Given the description of an element on the screen output the (x, y) to click on. 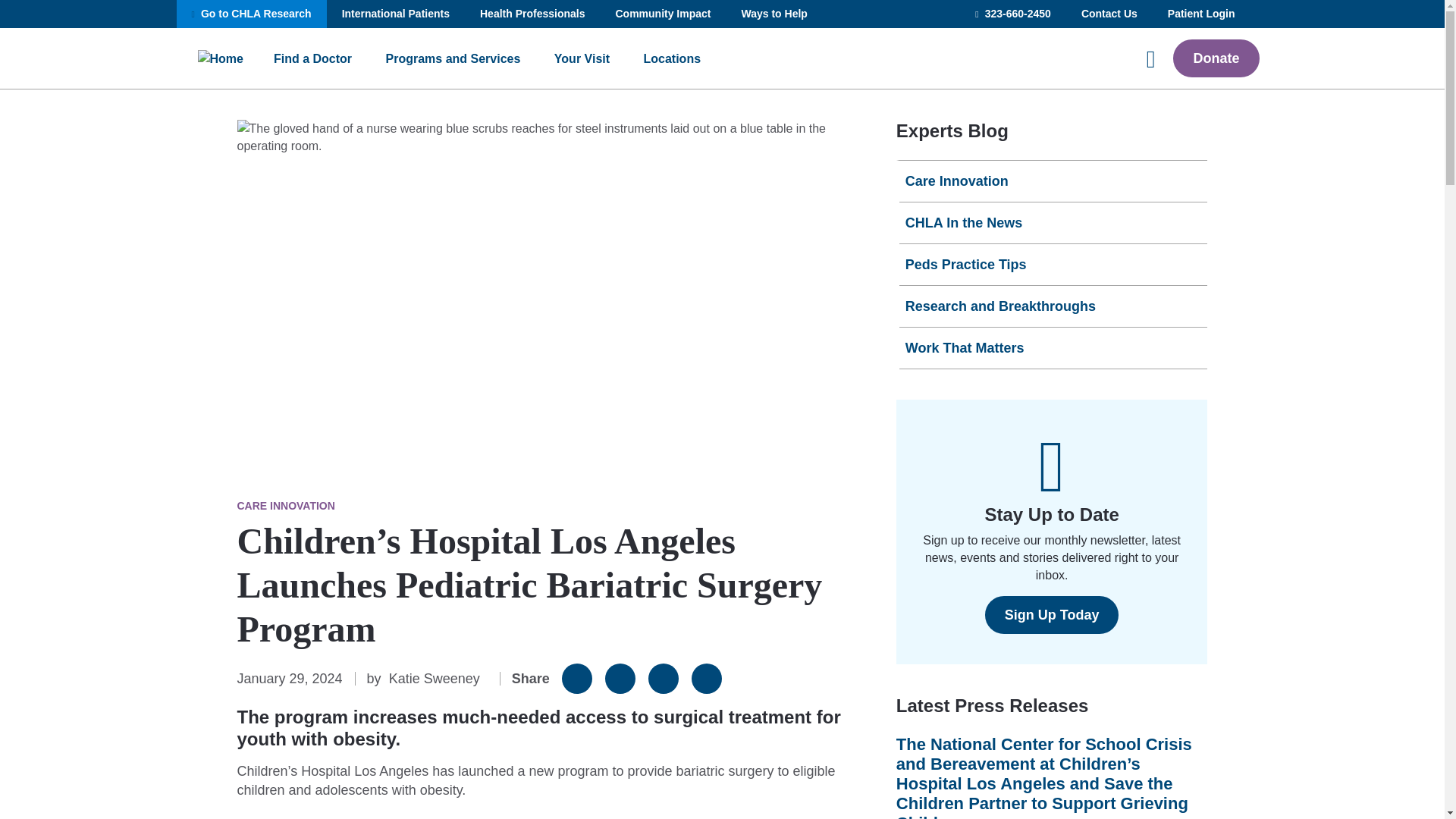
Programs and Services (453, 58)
Search (223, 84)
Main number and location, department contact information (1109, 13)
Ways to Help (774, 13)
Community Impact (662, 13)
Annual reports highlighting our impact on the community. (662, 13)
Share to Facebook (577, 678)
Toggle Search (1143, 57)
323-660-2450 (1012, 13)
International Patients (395, 13)
Scroll or search for all the programs and services we offer (453, 58)
Contact Us (1109, 13)
Home (219, 58)
Supporting the needs of patient families from abroad. (395, 13)
Patient Login (1201, 13)
